Given the description of an element on the screen output the (x, y) to click on. 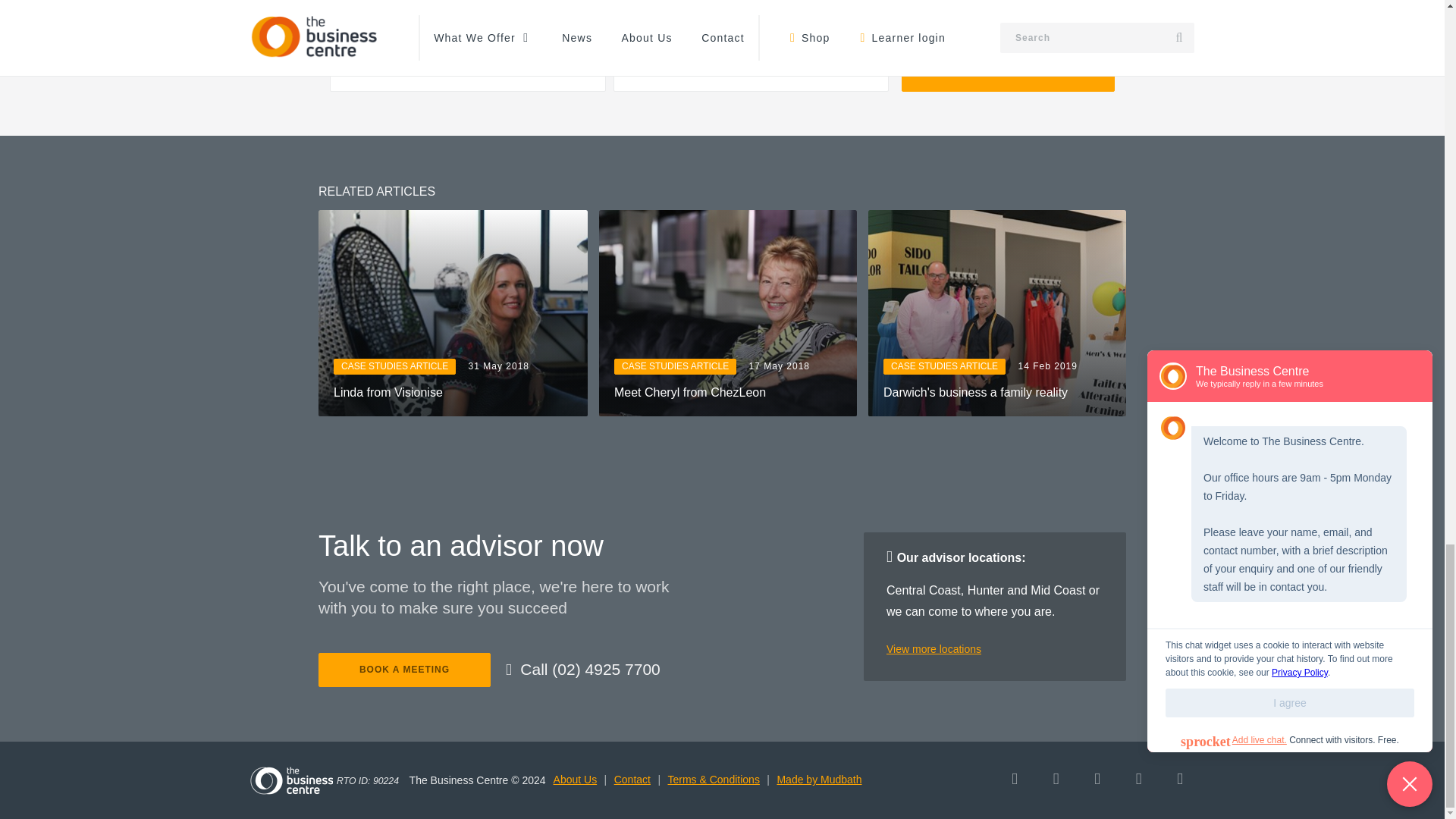
Linda from Visionise (452, 392)
CASE STUDIES ARTICLE (675, 366)
Subscribe (1008, 63)
CASE STUDIES ARTICLE (394, 366)
Subscribe (1008, 63)
